Given the description of an element on the screen output the (x, y) to click on. 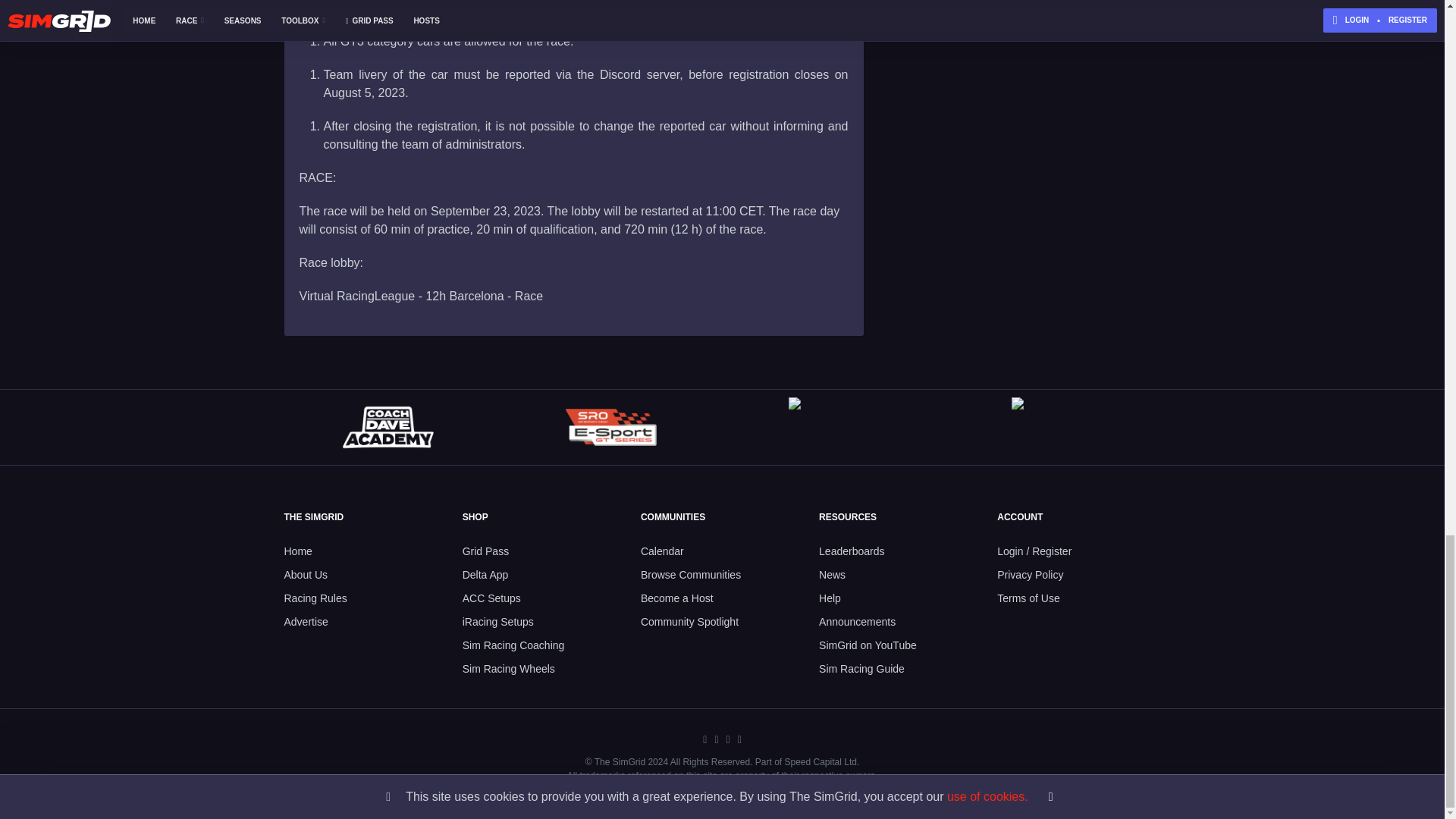
Twitter (715, 739)
YouTube (739, 739)
Instagram (728, 739)
Discord (704, 739)
